Given the description of an element on the screen output the (x, y) to click on. 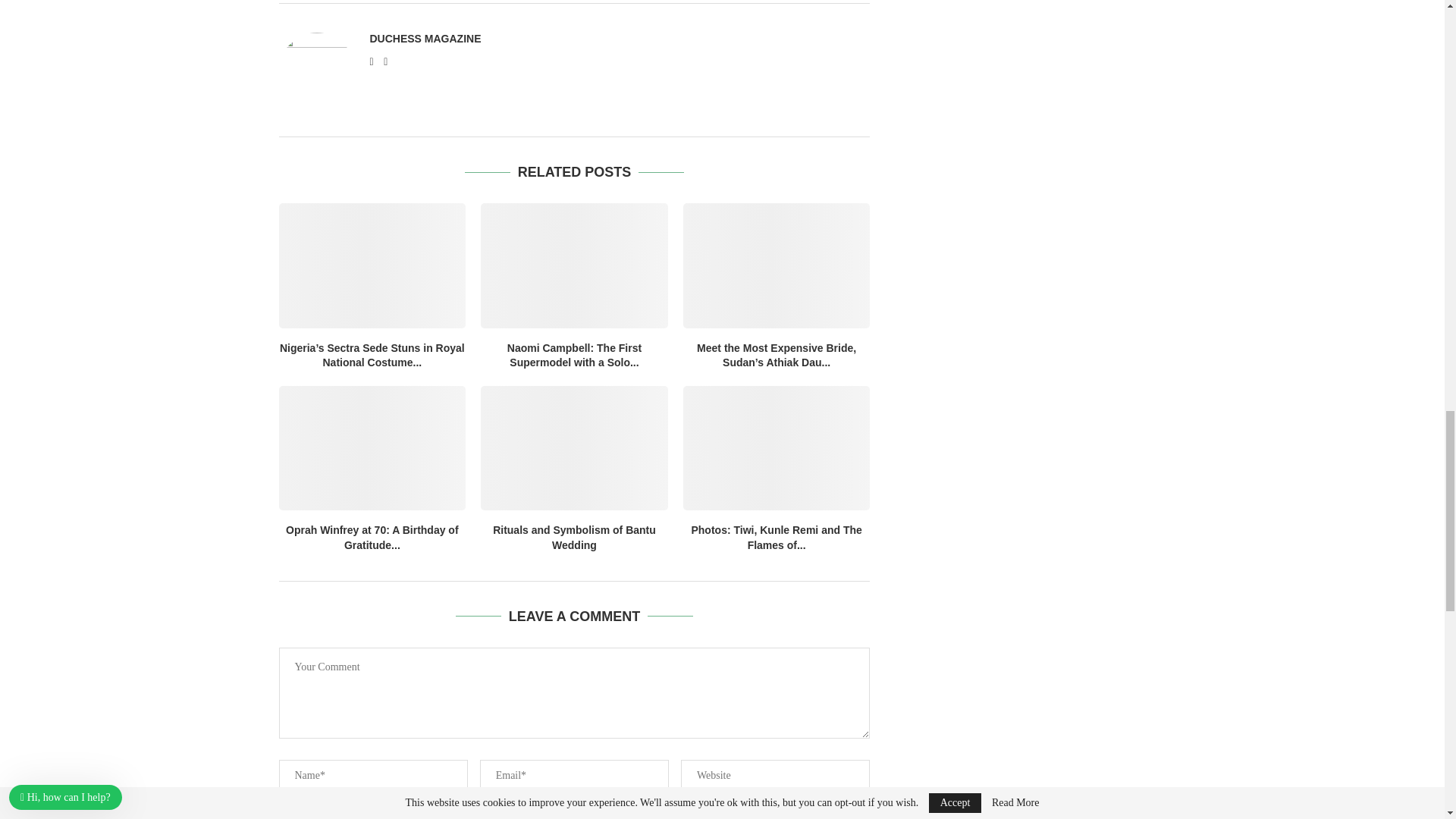
yes (283, 816)
